Given the description of an element on the screen output the (x, y) to click on. 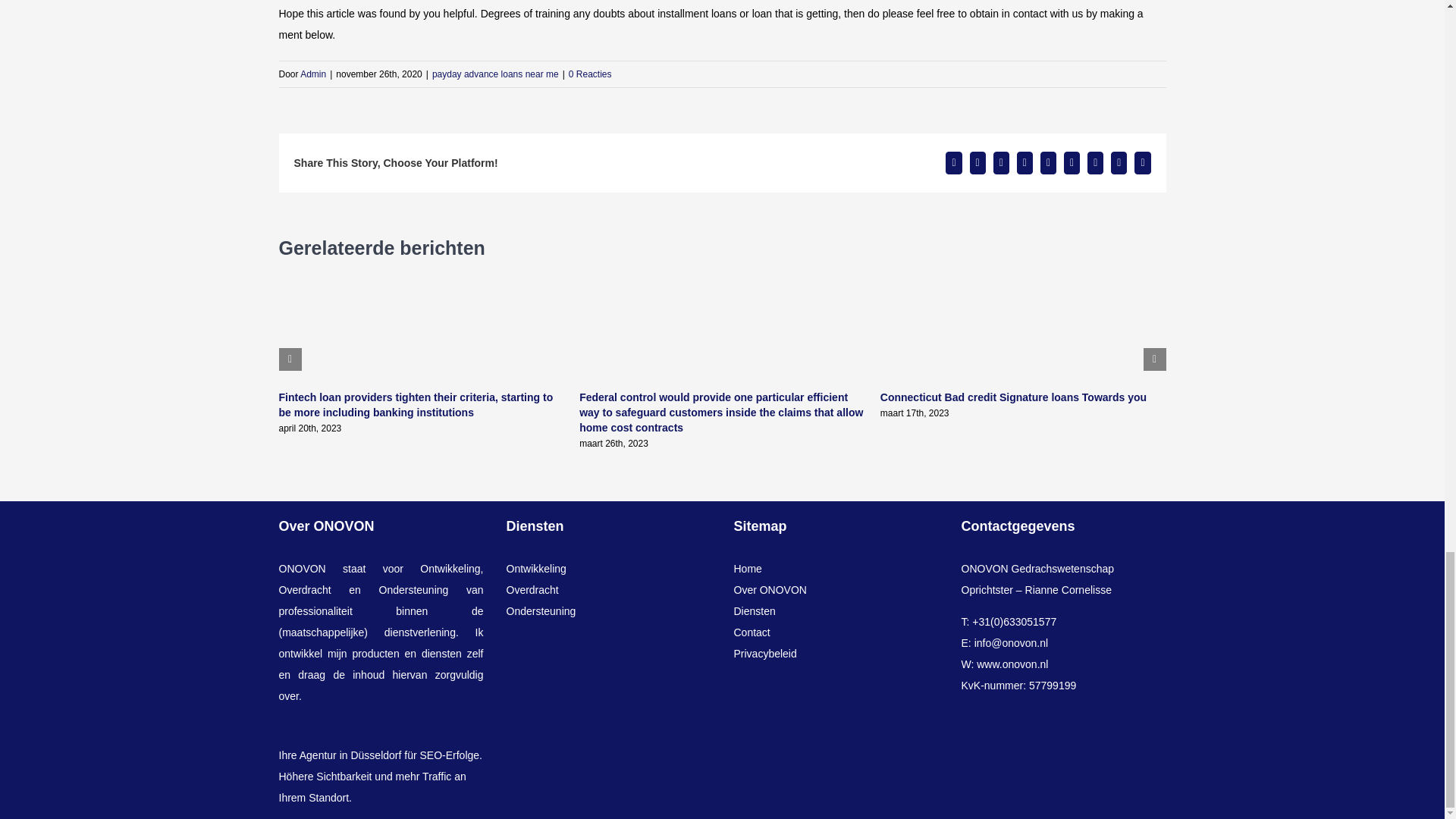
Berichten van Admin (312, 73)
Connecticut Bad credit Signature loans Towards you (1013, 397)
payday advance loans near me (495, 73)
0 Reacties (590, 73)
Connecticut Bad credit Signature loans Towards you (1013, 397)
Admin (312, 73)
